Given the description of an element on the screen output the (x, y) to click on. 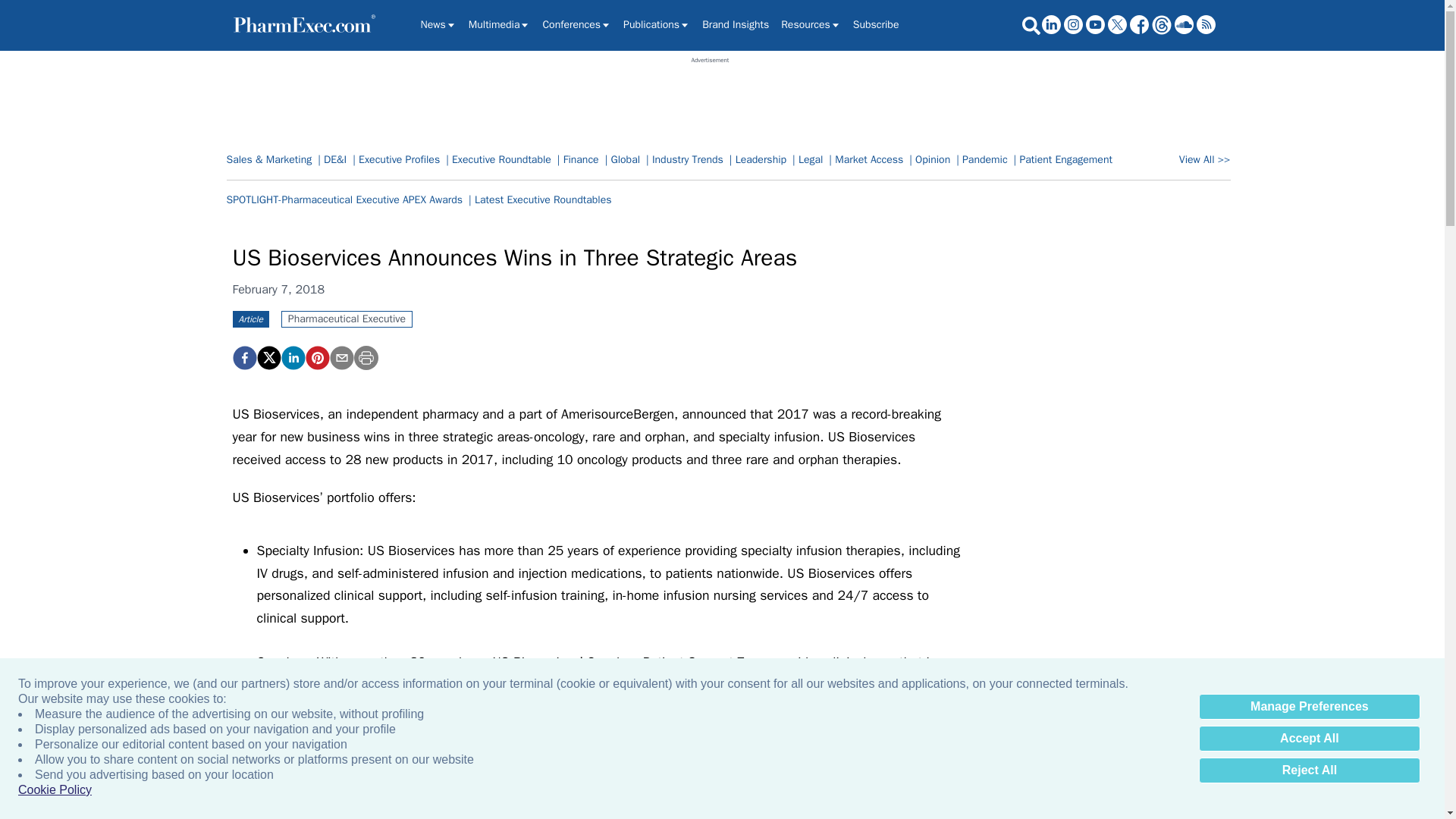
Subscribe (876, 23)
Brand Insights (734, 23)
US Bioservices Announces Wins in Three Strategic Areas (243, 357)
Manage Preferences (1309, 706)
Accept All (1309, 738)
Reject All (1309, 769)
US Bioservices Announces Wins in Three Strategic Areas (316, 357)
3rd party ad content (709, 98)
Cookie Policy (54, 789)
